Given the description of an element on the screen output the (x, y) to click on. 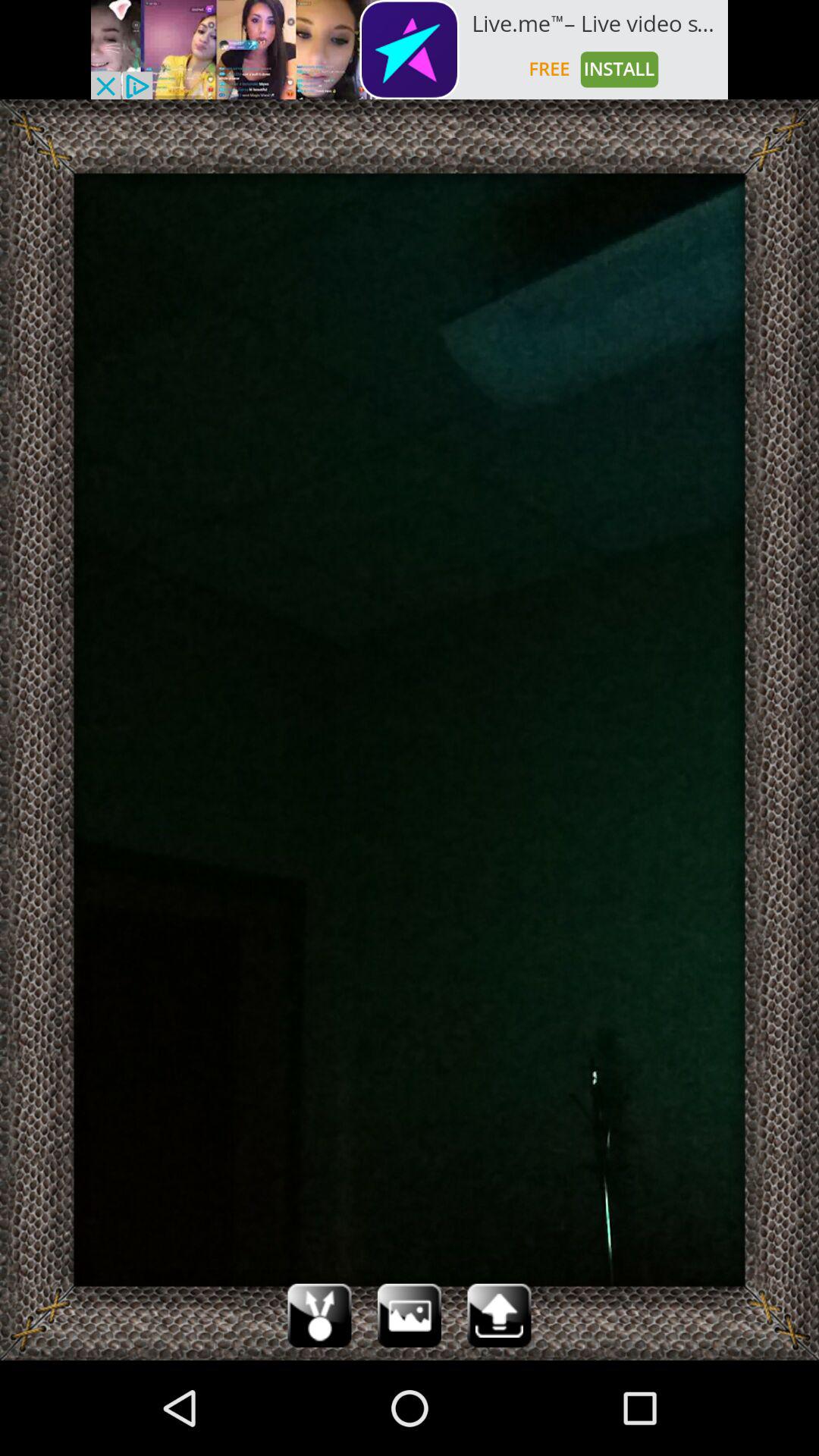
install an app (409, 49)
